Given the description of an element on the screen output the (x, y) to click on. 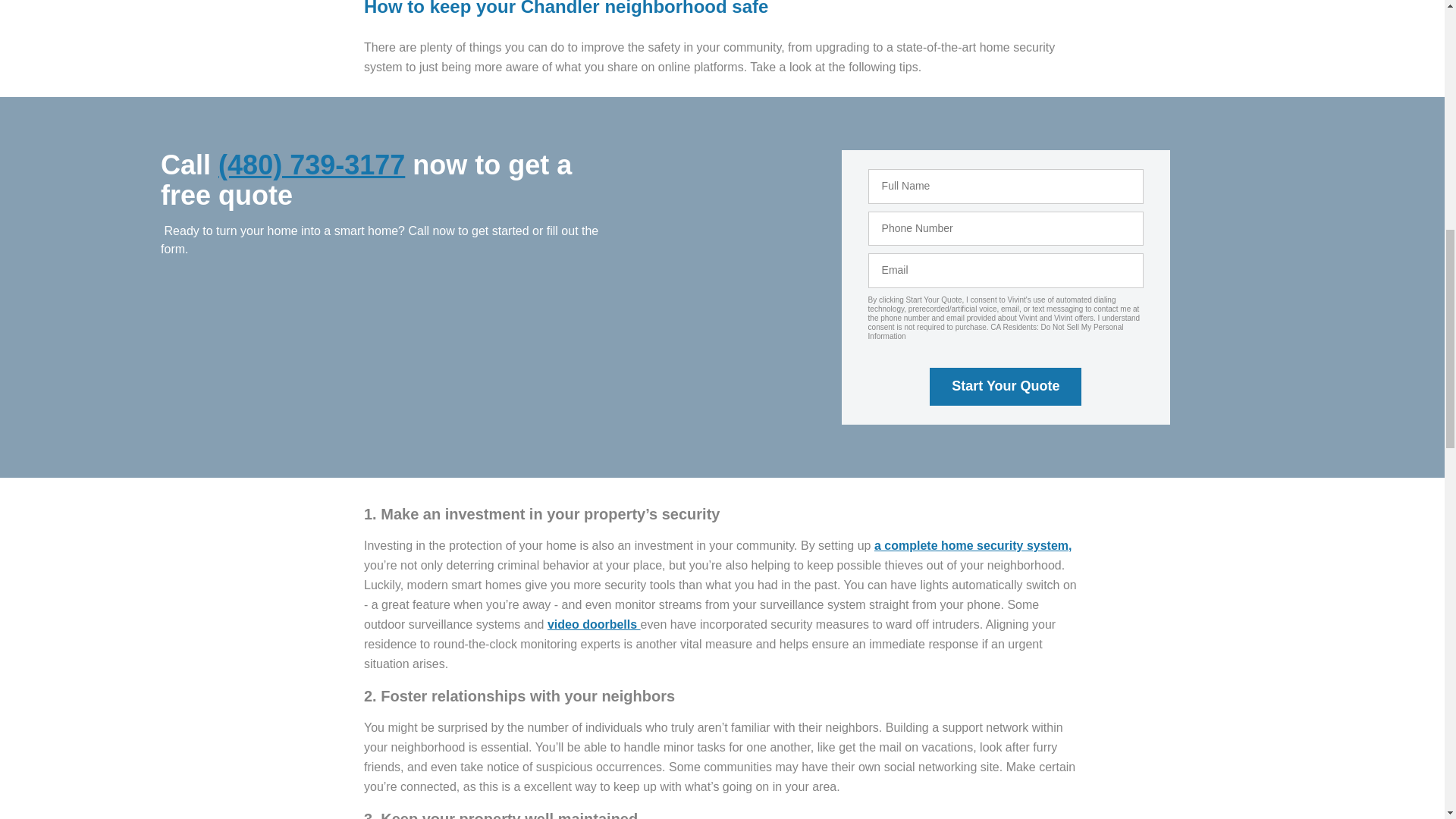
video doorbells (593, 624)
Start Your Quote (1005, 386)
Start Your Quote (1005, 386)
a complete home security system, (973, 545)
